Given the description of an element on the screen output the (x, y) to click on. 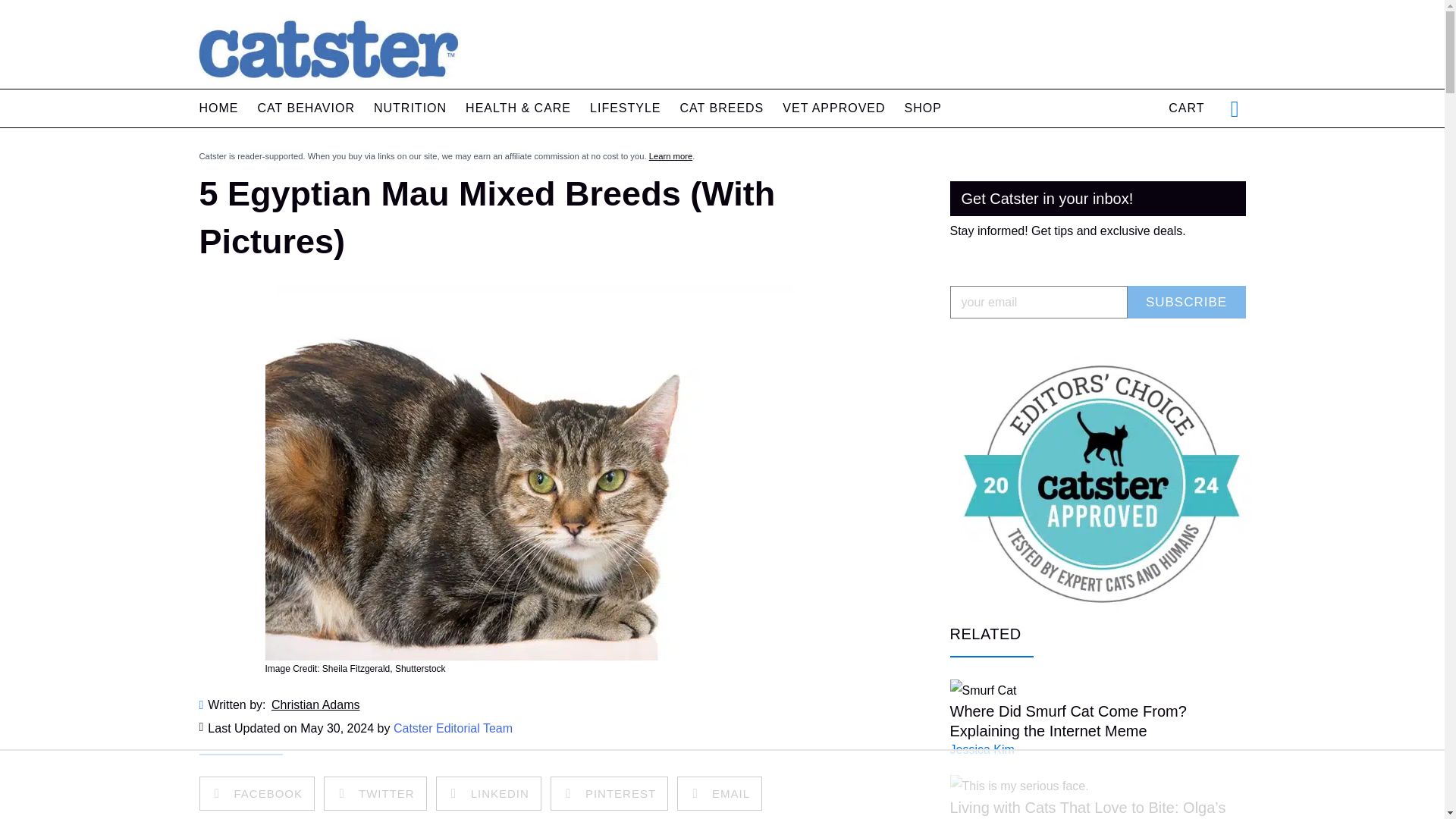
NUTRITION (410, 108)
Written by: Christian Adams (528, 704)
Learn more (671, 155)
FACEBOOK (257, 793)
VET APPROVED (834, 108)
LIFESTYLE (625, 108)
TWITTER (375, 793)
CAT BREEDS (721, 108)
CAT BEHAVIOR (306, 108)
SHOP (923, 108)
HOME (218, 108)
Catster Editorial Team (452, 727)
CART (1186, 108)
